Given the description of an element on the screen output the (x, y) to click on. 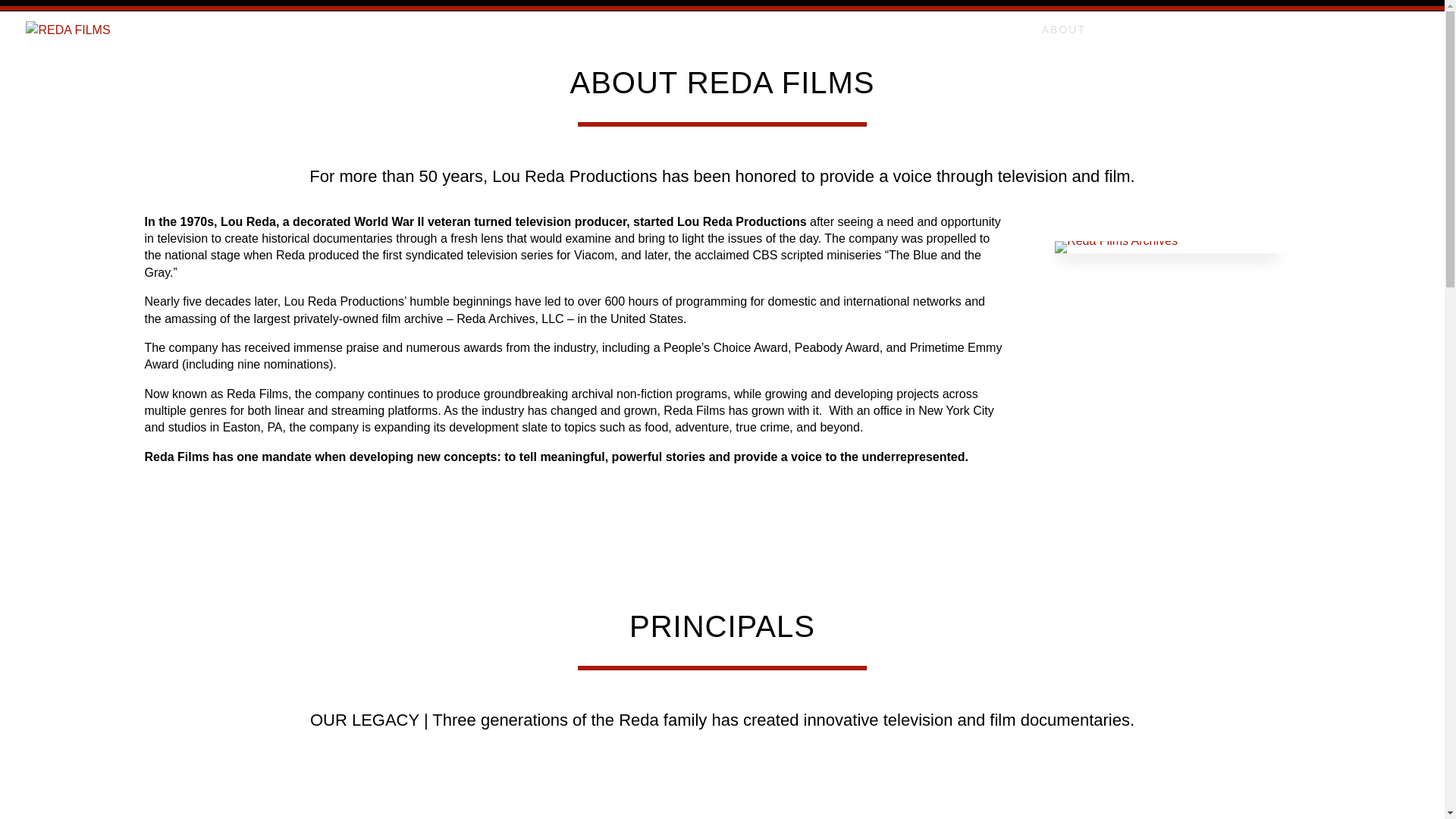
OUR WORK (1141, 41)
ABOUT (1064, 41)
ARCHIVES (1305, 41)
AWARDS (1224, 41)
CONTACT (1389, 41)
Reda Films Archives (1115, 240)
